Given the description of an element on the screen output the (x, y) to click on. 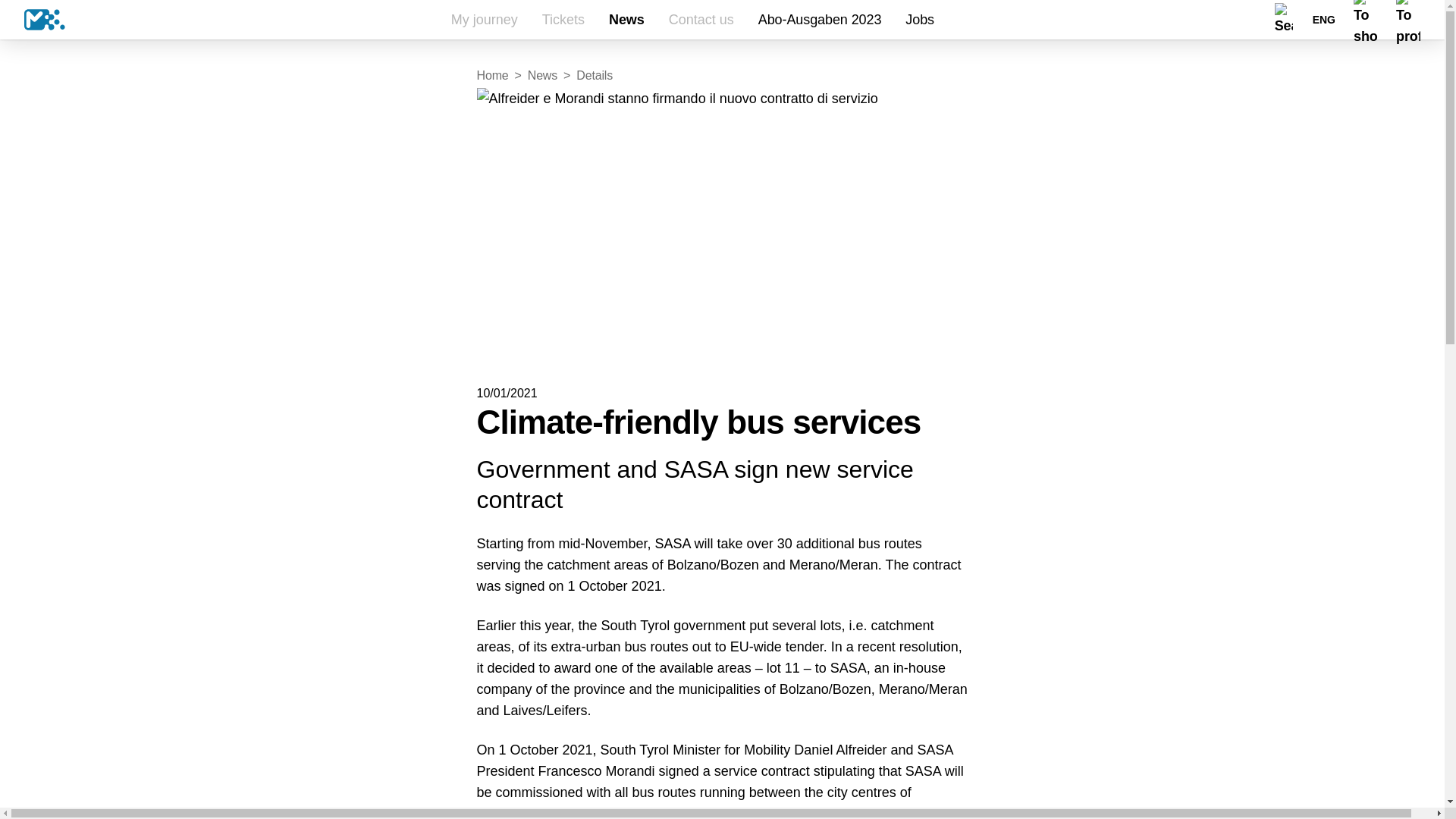
Contact us (700, 19)
To home page (32, 19)
Tickets (562, 19)
News (626, 19)
To shop (1369, 19)
My journey (484, 19)
To profile (1417, 19)
